Given the description of an element on the screen output the (x, y) to click on. 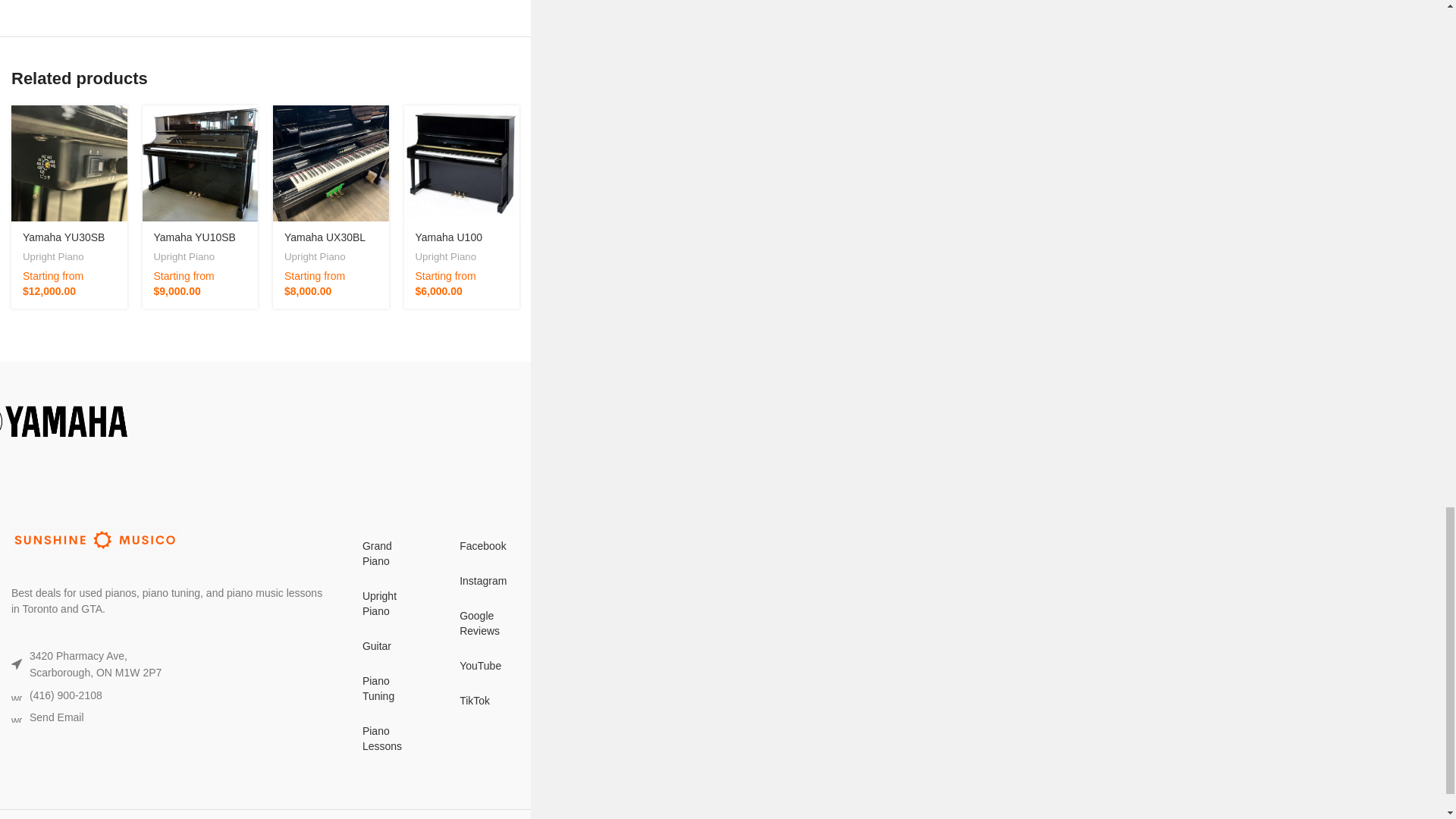
wd-cursor-dark (16, 664)
Kawai (482, 422)
Yamaha (132, 422)
